Given the description of an element on the screen output the (x, y) to click on. 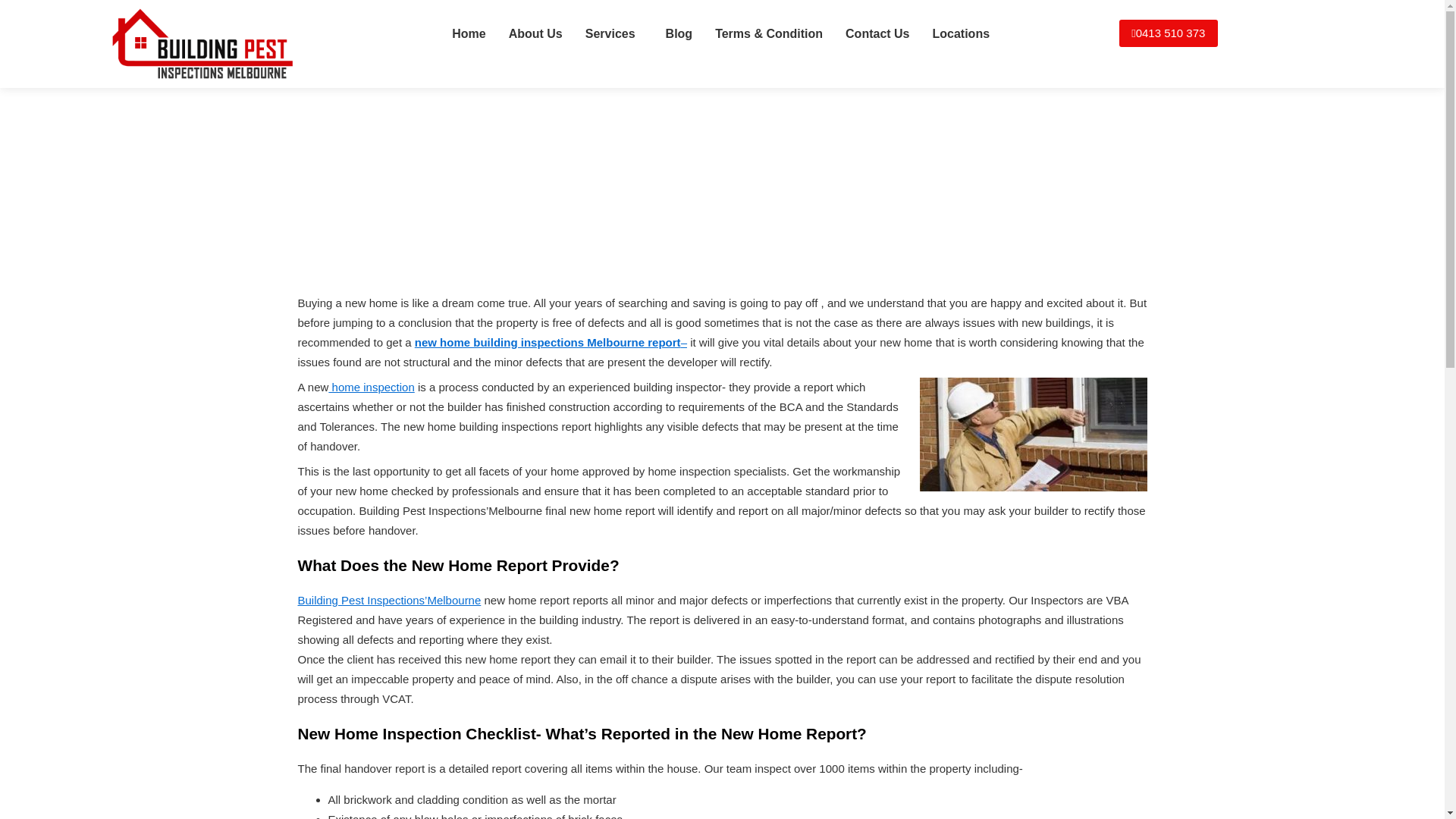
Locations (960, 33)
Blog (678, 33)
Contact Us (877, 33)
0413 510 373 (1168, 32)
Services (613, 33)
Home (468, 33)
home inspection (371, 386)
About Us (535, 33)
